Given the description of an element on the screen output the (x, y) to click on. 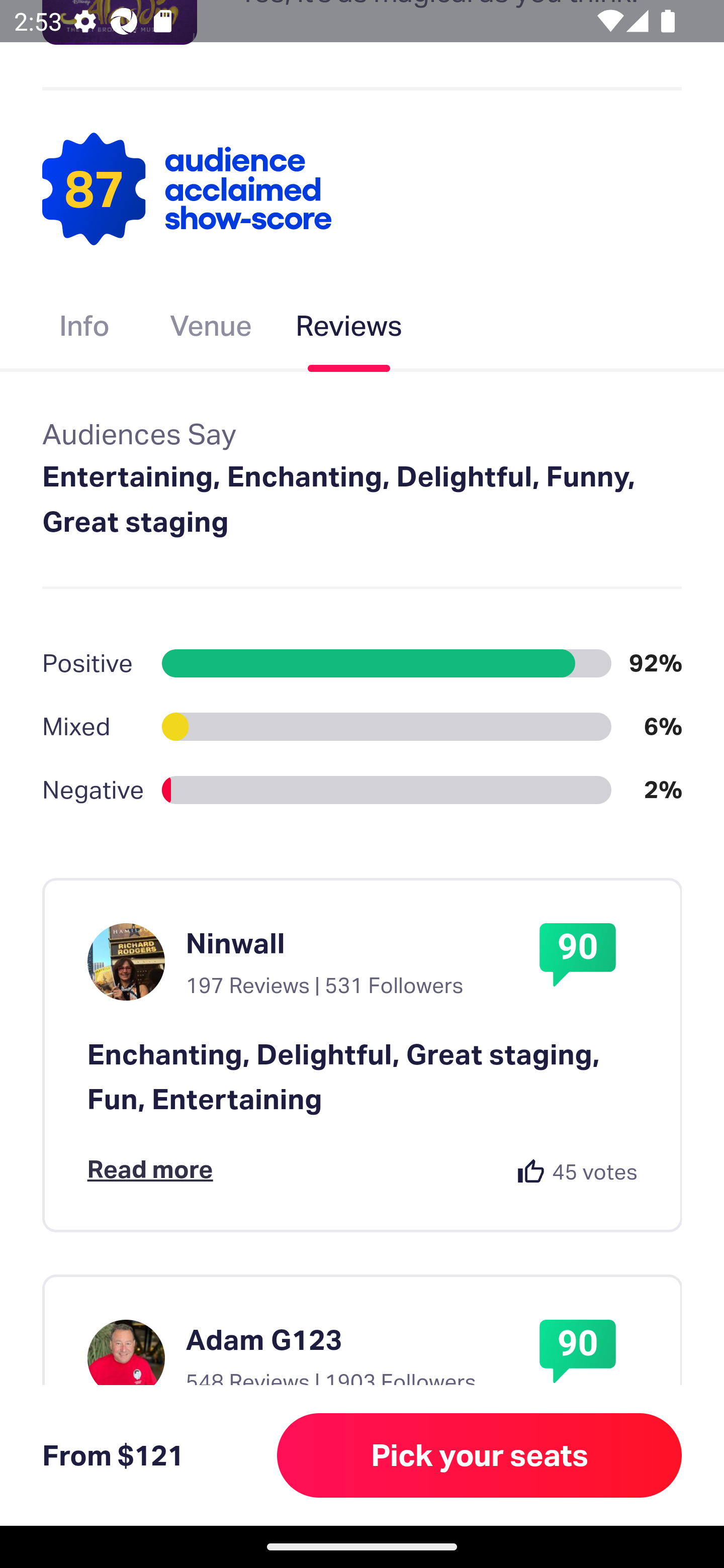
Info (83, 328)
Venue (210, 328)
Read more (150, 1168)
Pick your seats (479, 1454)
